Given the description of an element on the screen output the (x, y) to click on. 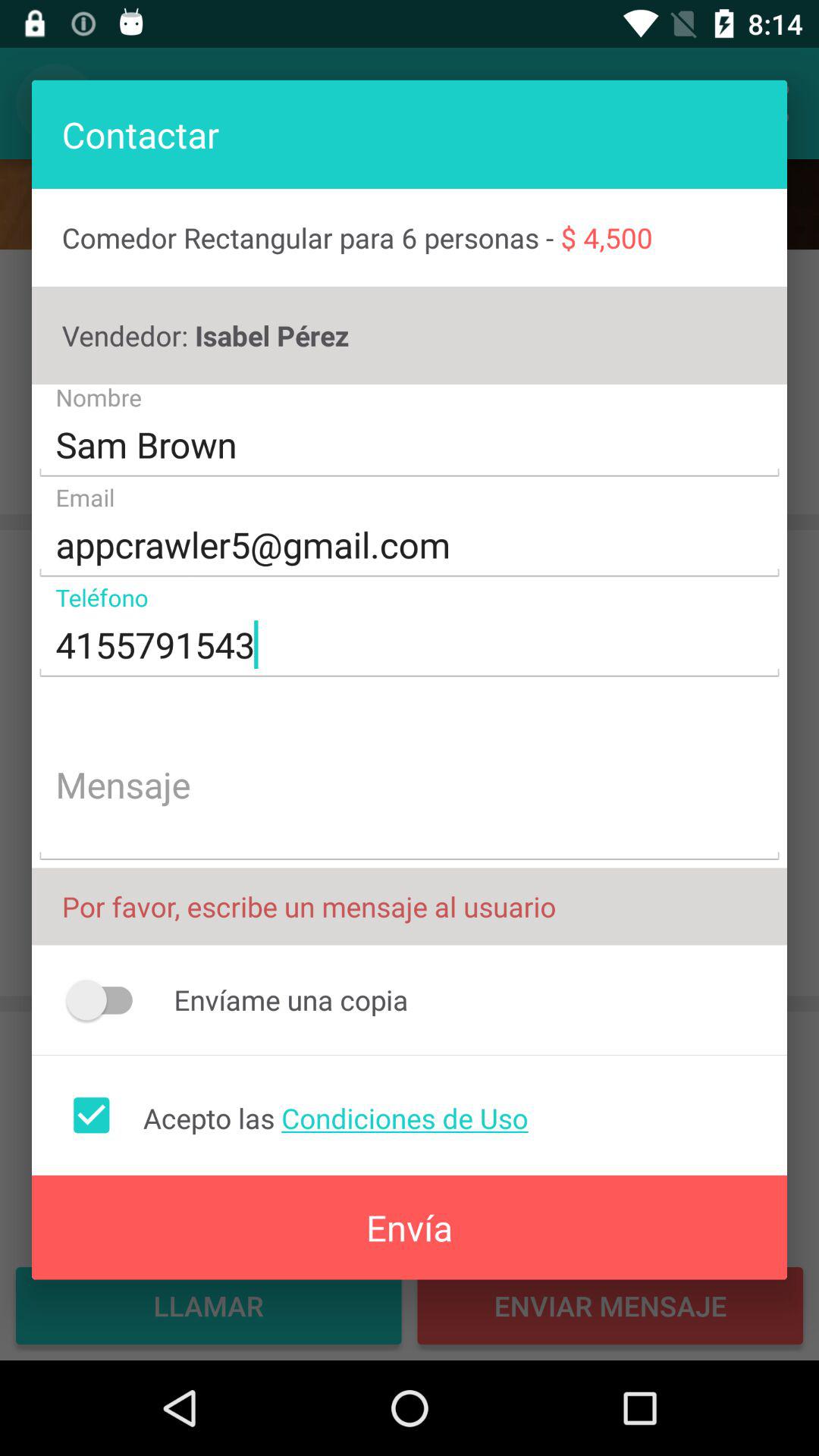
tap icon below the appcrawler5@gmail.com icon (409, 645)
